Given the description of an element on the screen output the (x, y) to click on. 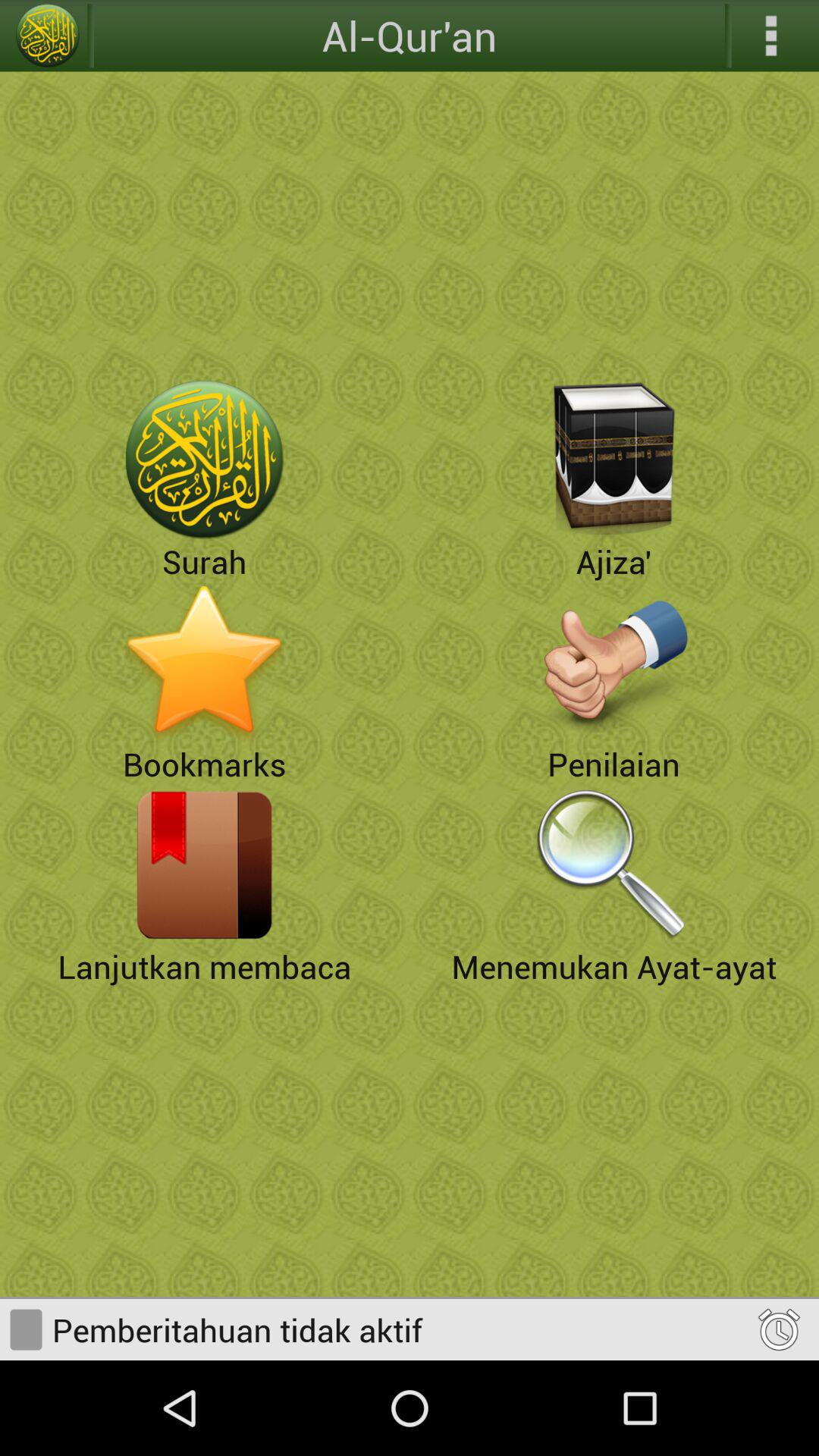
access options to the al-qur'an (771, 35)
